Given the description of an element on the screen output the (x, y) to click on. 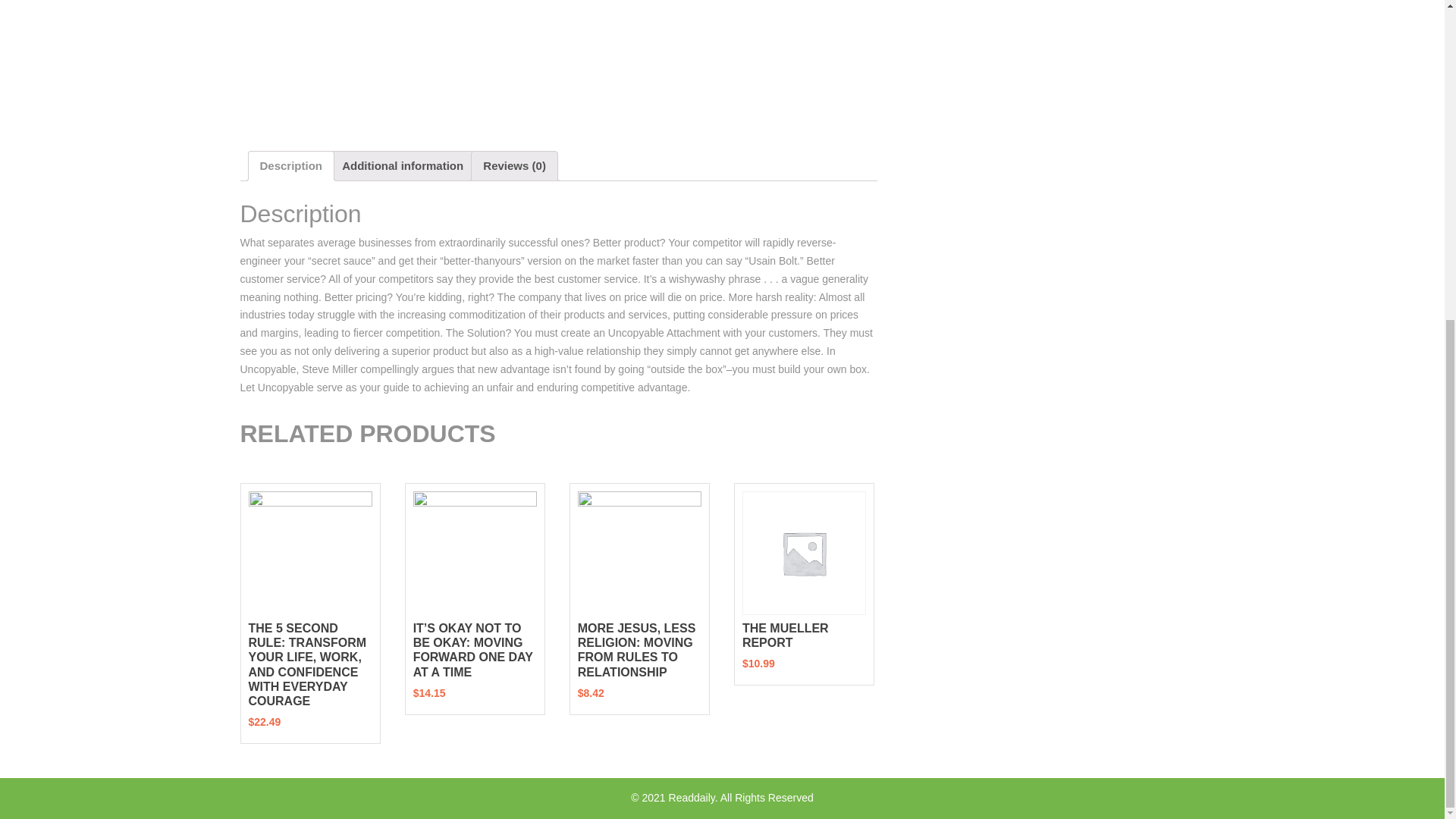
Additional information (402, 165)
Description (290, 165)
41ZohuysRrL.jpg (392, 63)
